Given the description of an element on the screen output the (x, y) to click on. 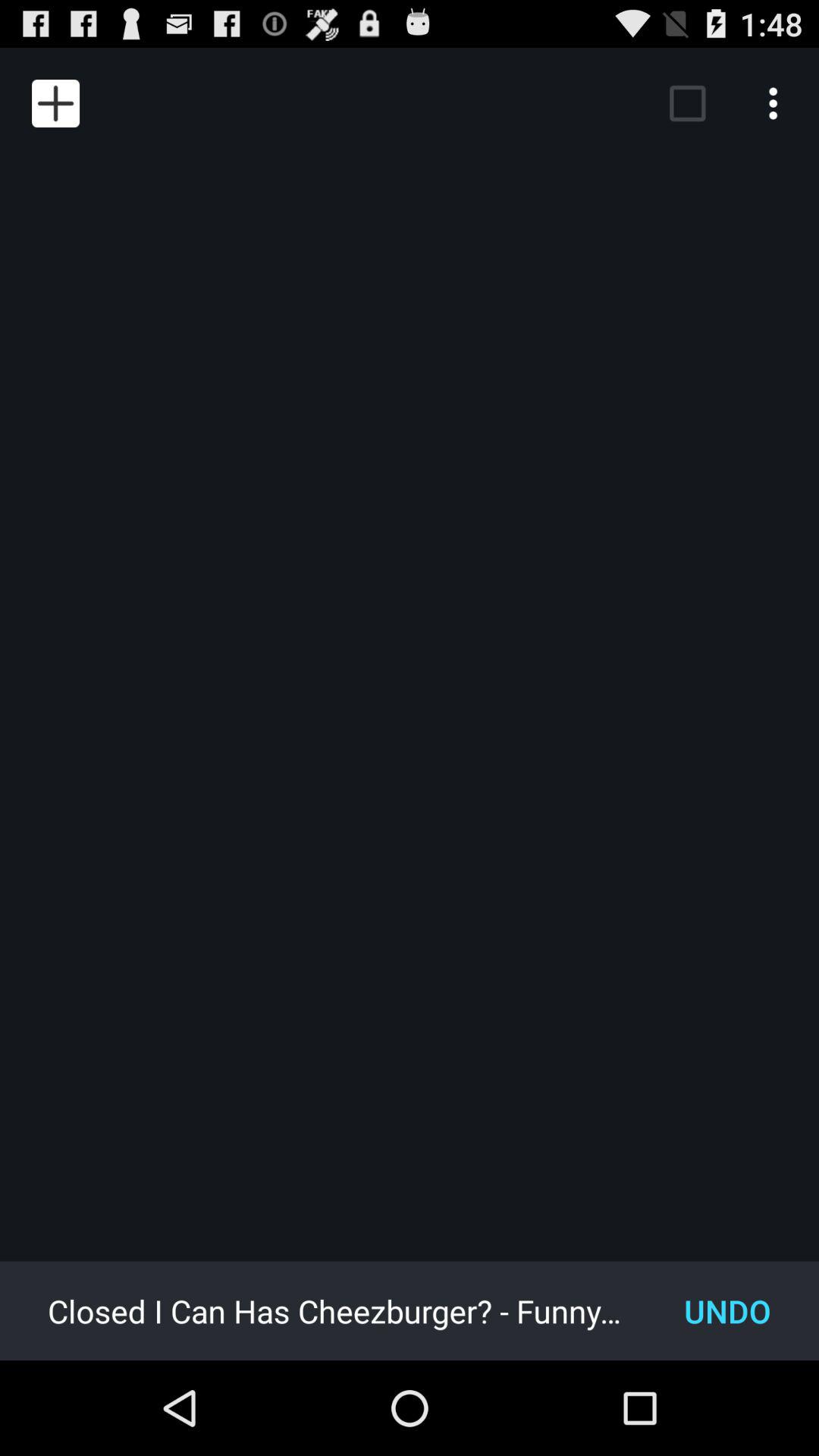
turn off icon next to the closed i can (727, 1310)
